Given the description of an element on the screen output the (x, y) to click on. 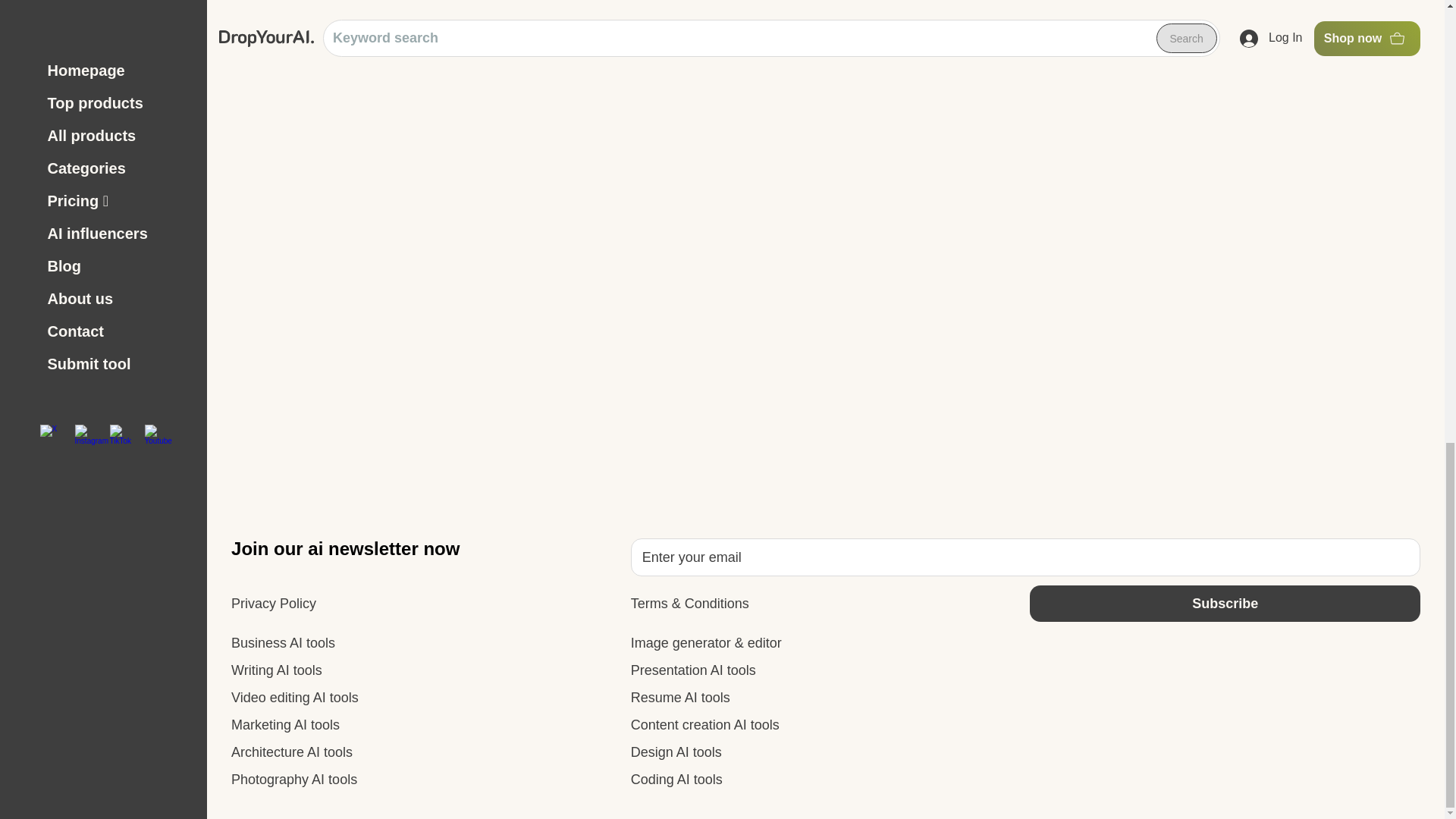
Writing AI tools (276, 670)
Photography AI tools (293, 779)
Business AI tools (282, 642)
Design AI tools (676, 752)
Presentation AI tools (692, 670)
Marketing AI tools (285, 724)
Privacy Policy (273, 603)
Video editing AI tools (294, 697)
Resume AI tools (680, 697)
Coding AI tools (676, 779)
